Given the description of an element on the screen output the (x, y) to click on. 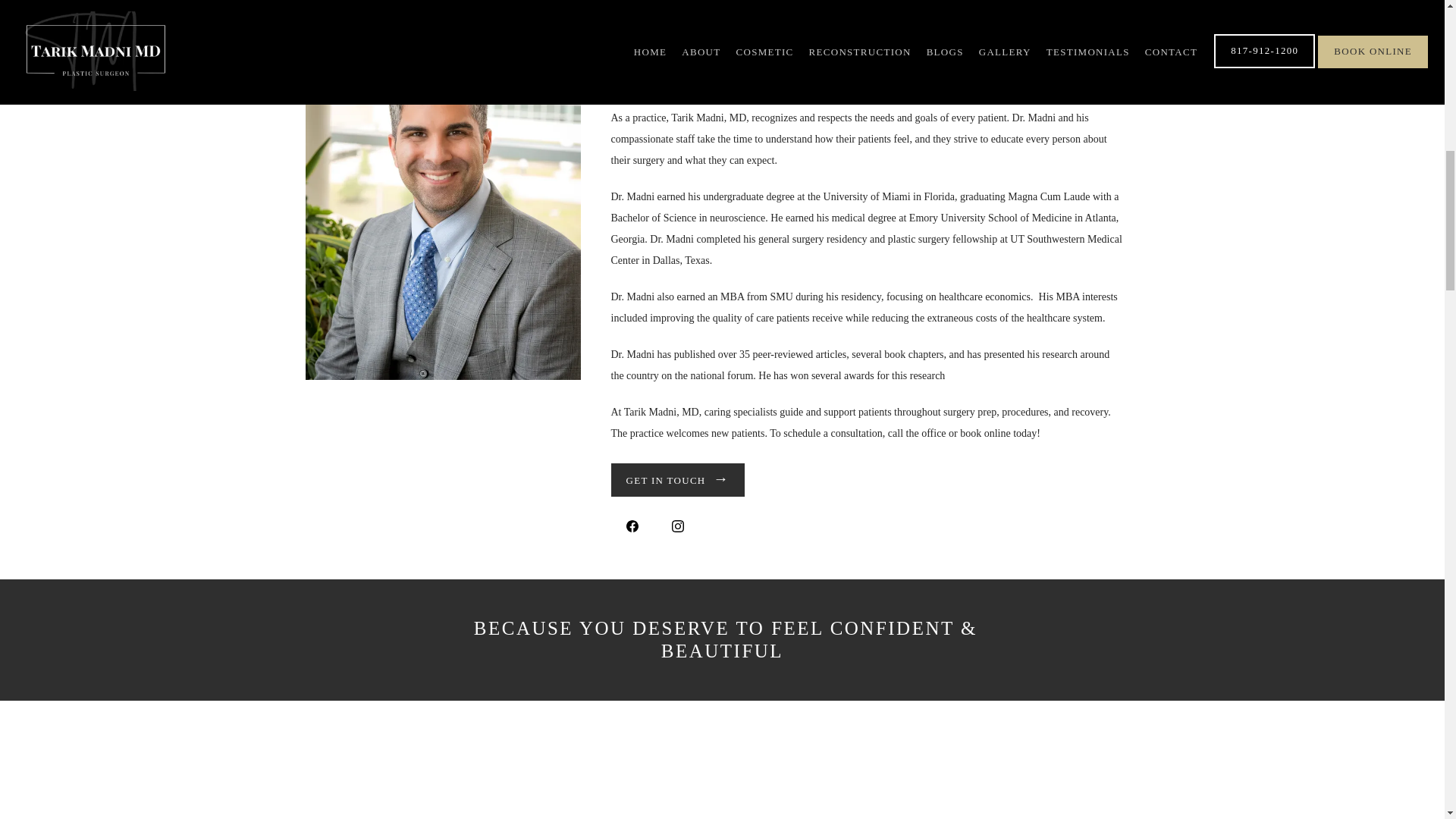
face (631, 81)
body contouring (933, 60)
GET IN TOUCH (679, 481)
mommy makeover (863, 49)
